Given the description of an element on the screen output the (x, y) to click on. 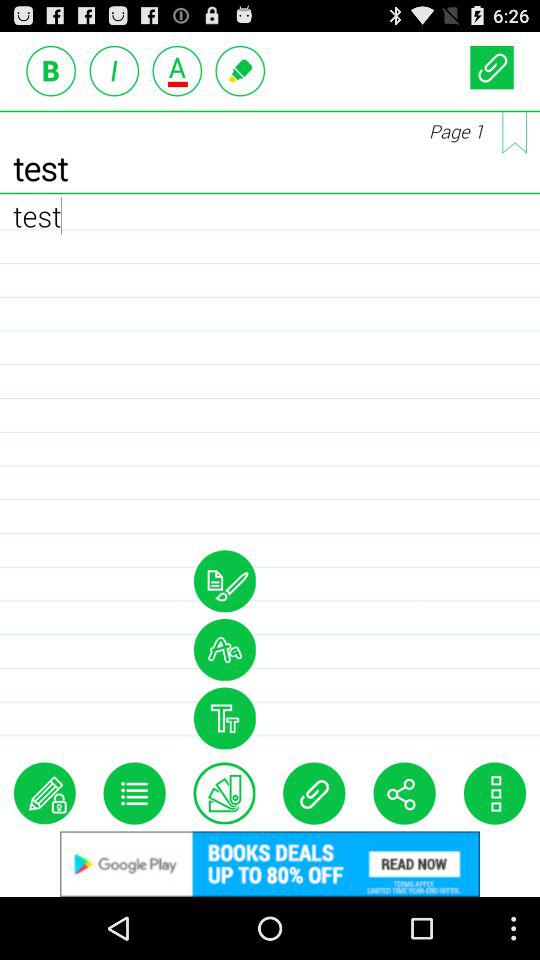
underline the text (177, 70)
